Given the description of an element on the screen output the (x, y) to click on. 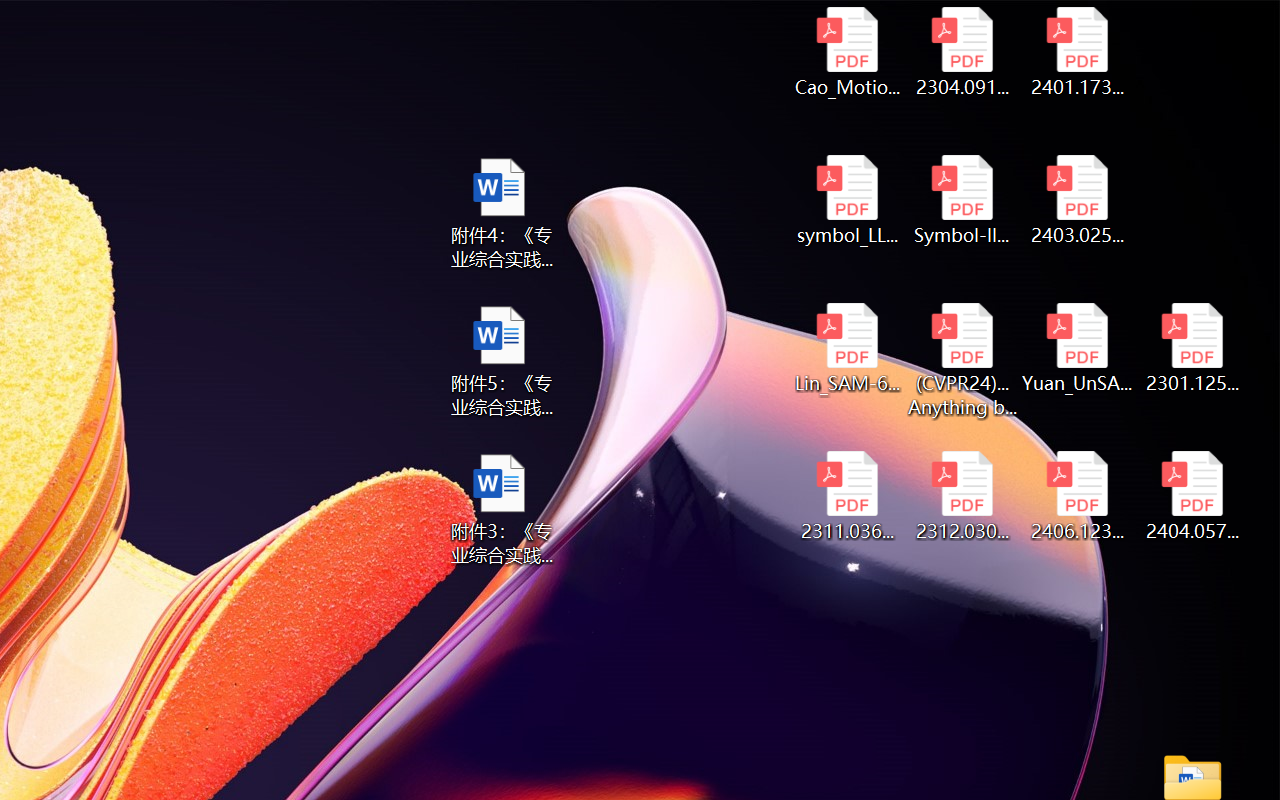
2401.17399v1.pdf (1077, 52)
